Given the description of an element on the screen output the (x, y) to click on. 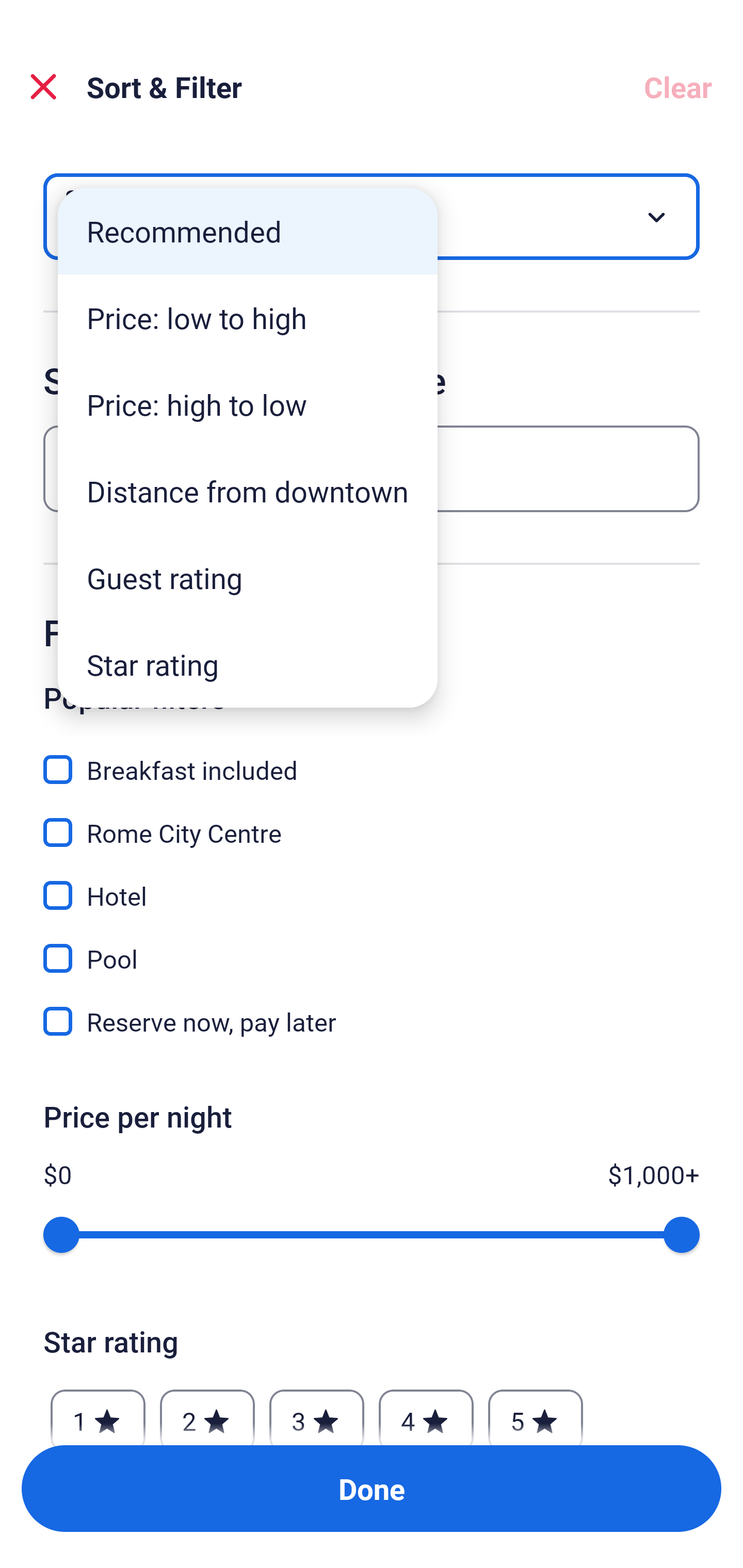
Price: low to high (247, 317)
Price: high to low (247, 404)
Distance from downtown (247, 491)
Guest rating (247, 577)
Star rating (247, 663)
